Given the description of an element on the screen output the (x, y) to click on. 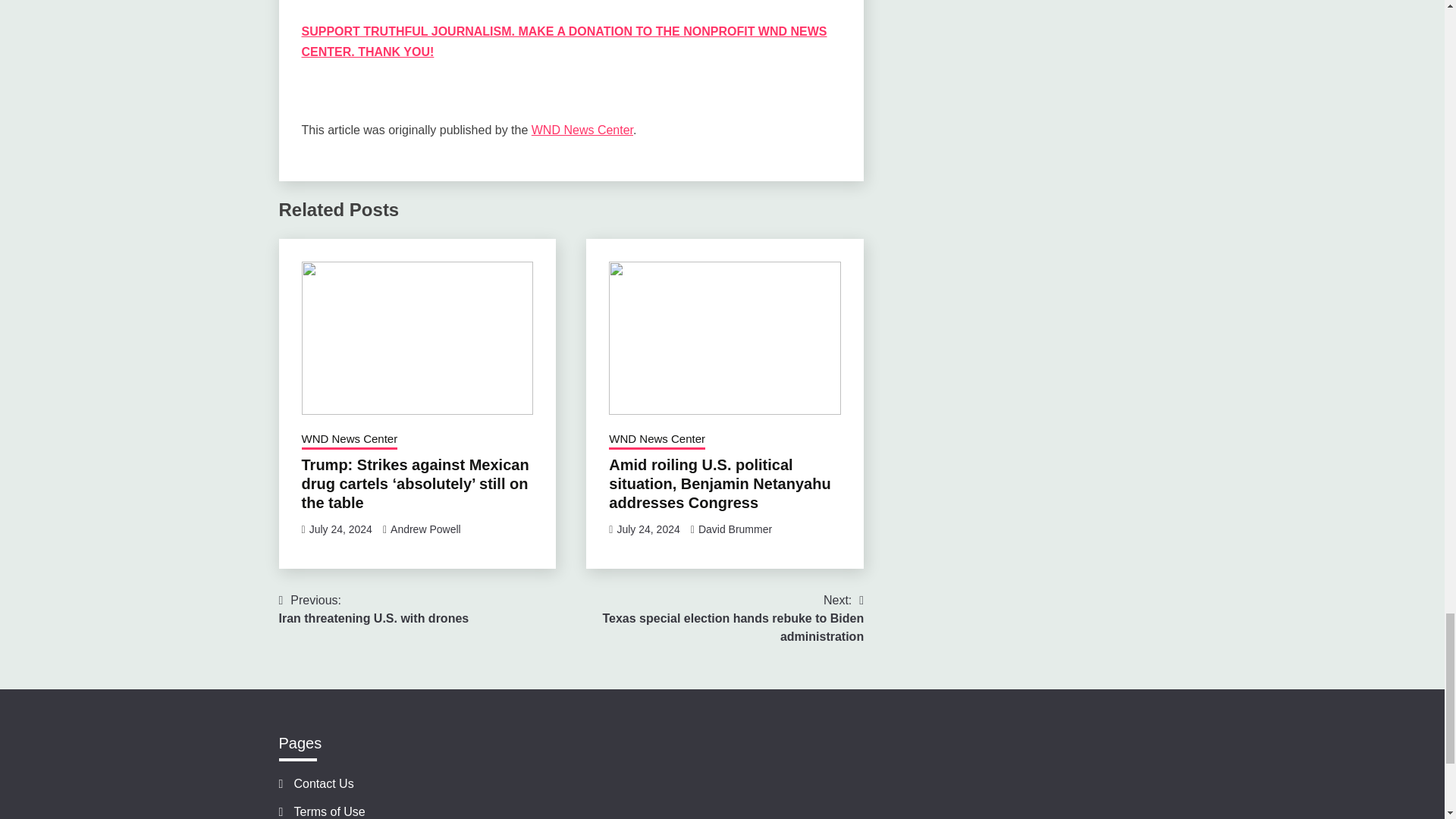
WND News Center (656, 440)
WND News Center (582, 129)
Andrew Powell (425, 529)
July 24, 2024 (340, 529)
July 24, 2024 (647, 529)
David Brummer (734, 529)
WND News Center (349, 440)
